Given the description of an element on the screen output the (x, y) to click on. 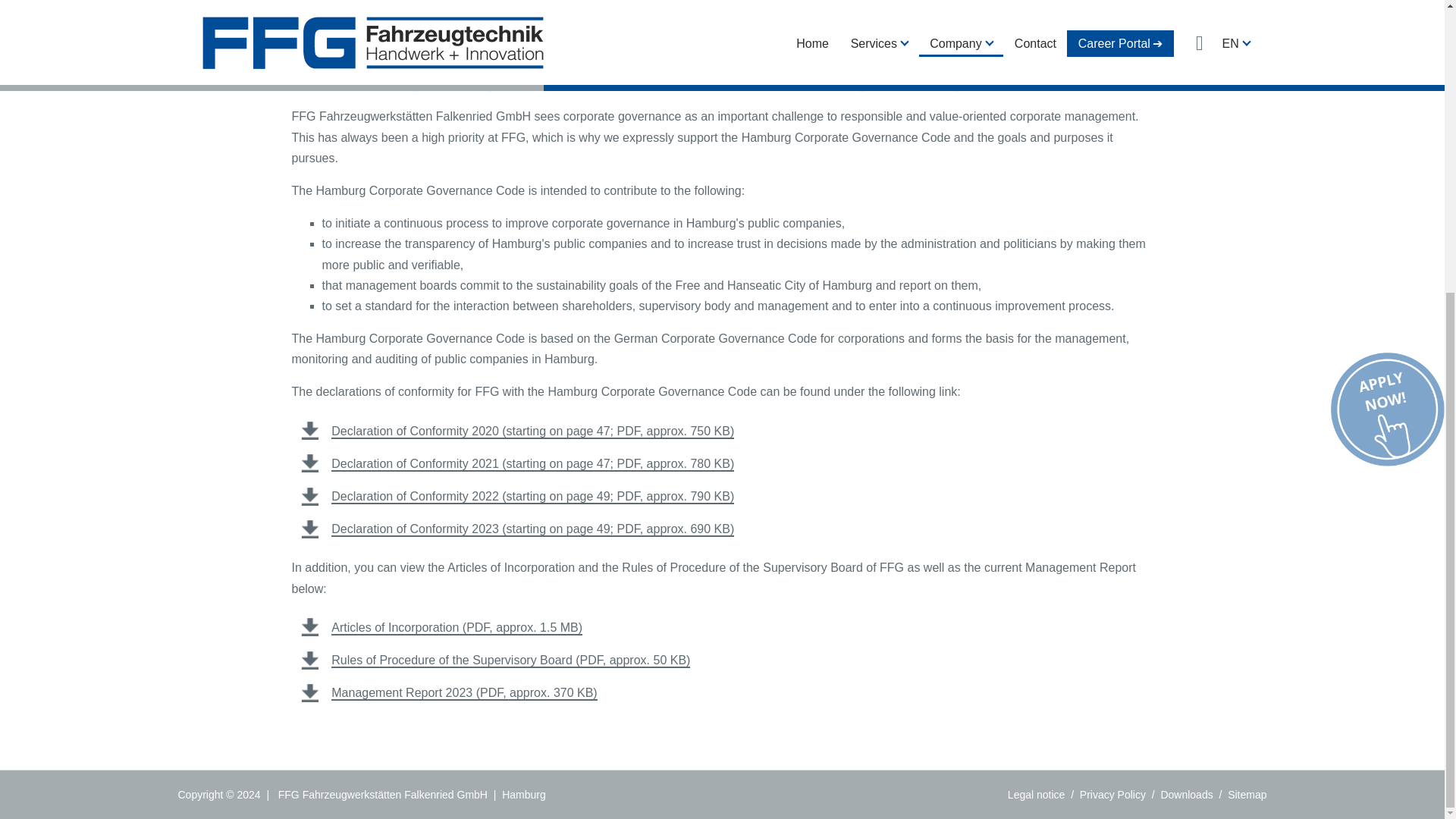
Download Declaration of Conformity 2020 (532, 431)
Legal notice (1036, 795)
Downloads (1186, 795)
Sitemap (1246, 795)
Download Articles of Incorporation (456, 627)
Download Management Report 2023 (463, 693)
Privacy Policy (1112, 795)
Download Declaration of Conformity 2022 (532, 496)
Download Declaration of Conformity 2023 (532, 529)
Download Declaration of Conformity 2021 (532, 464)
